Given the description of an element on the screen output the (x, y) to click on. 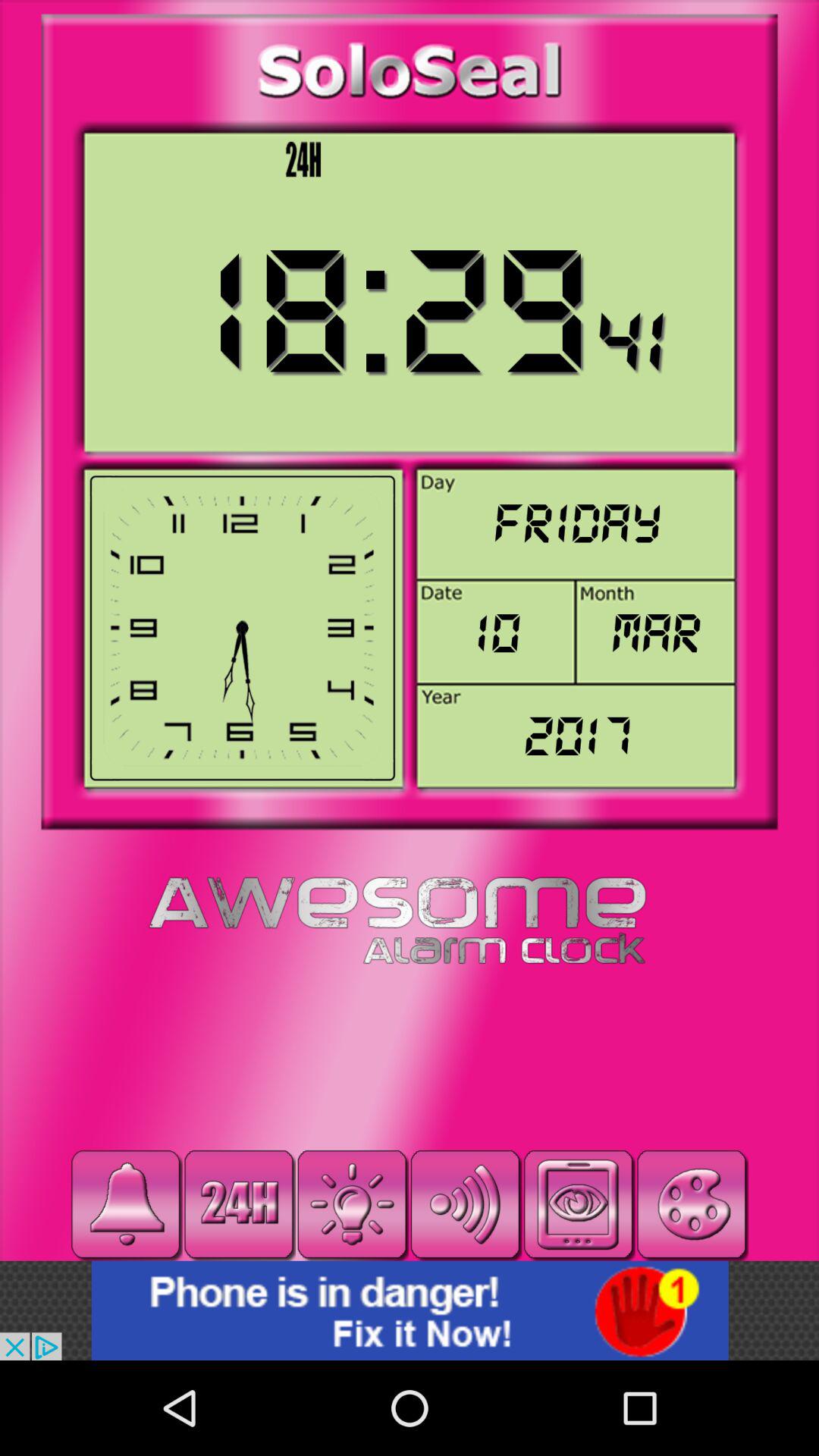
change theme (691, 1203)
